Given the description of an element on the screen output the (x, y) to click on. 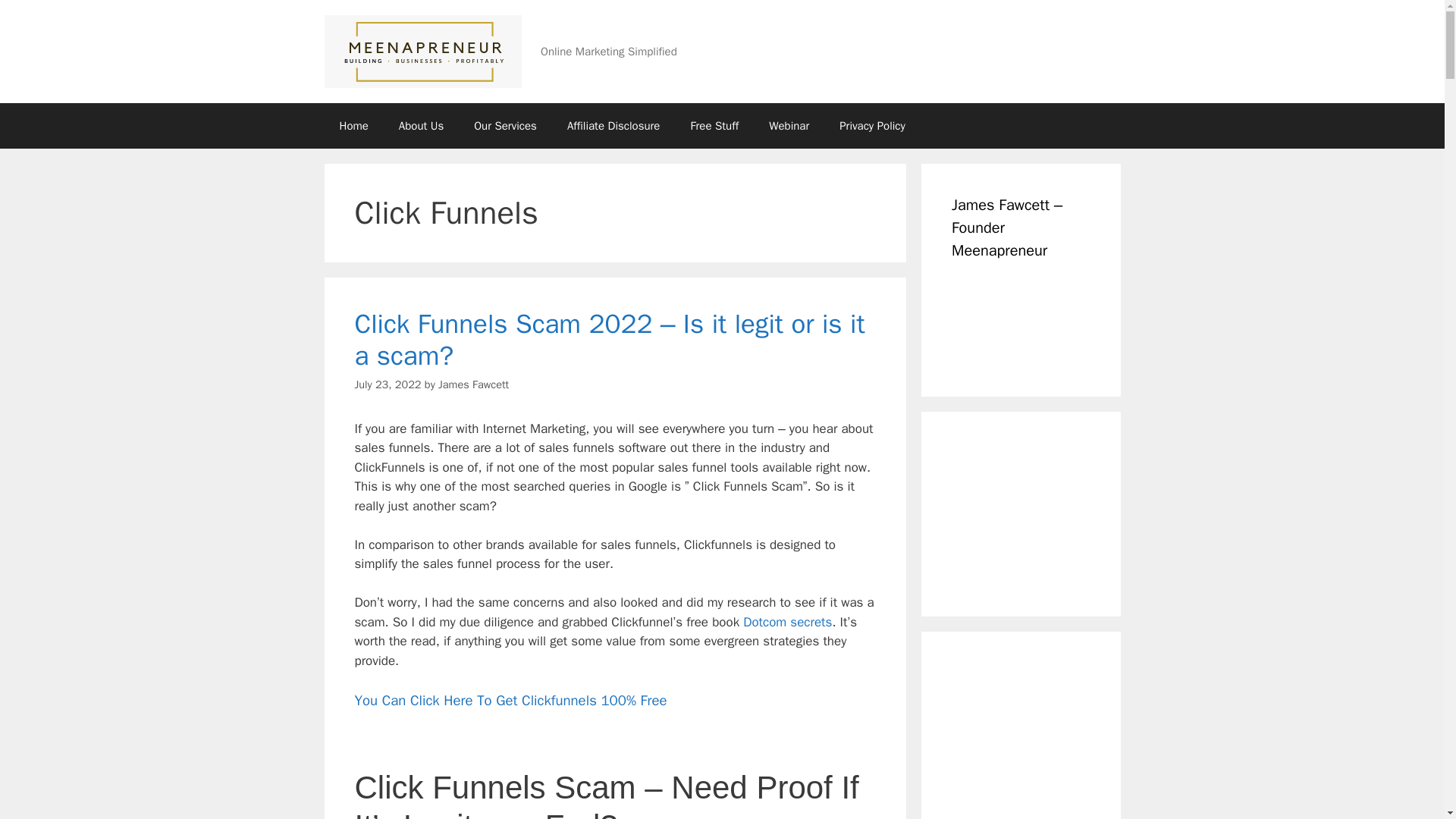
Affiliate Disclosure (613, 125)
Webinar (789, 125)
Dotcom secrets (786, 621)
Home (354, 125)
About Us (421, 125)
Privacy Policy (872, 125)
View all posts by James Fawcett (473, 384)
James Fawcett (473, 384)
Our Services (504, 125)
Free Stuff (714, 125)
